Given the description of an element on the screen output the (x, y) to click on. 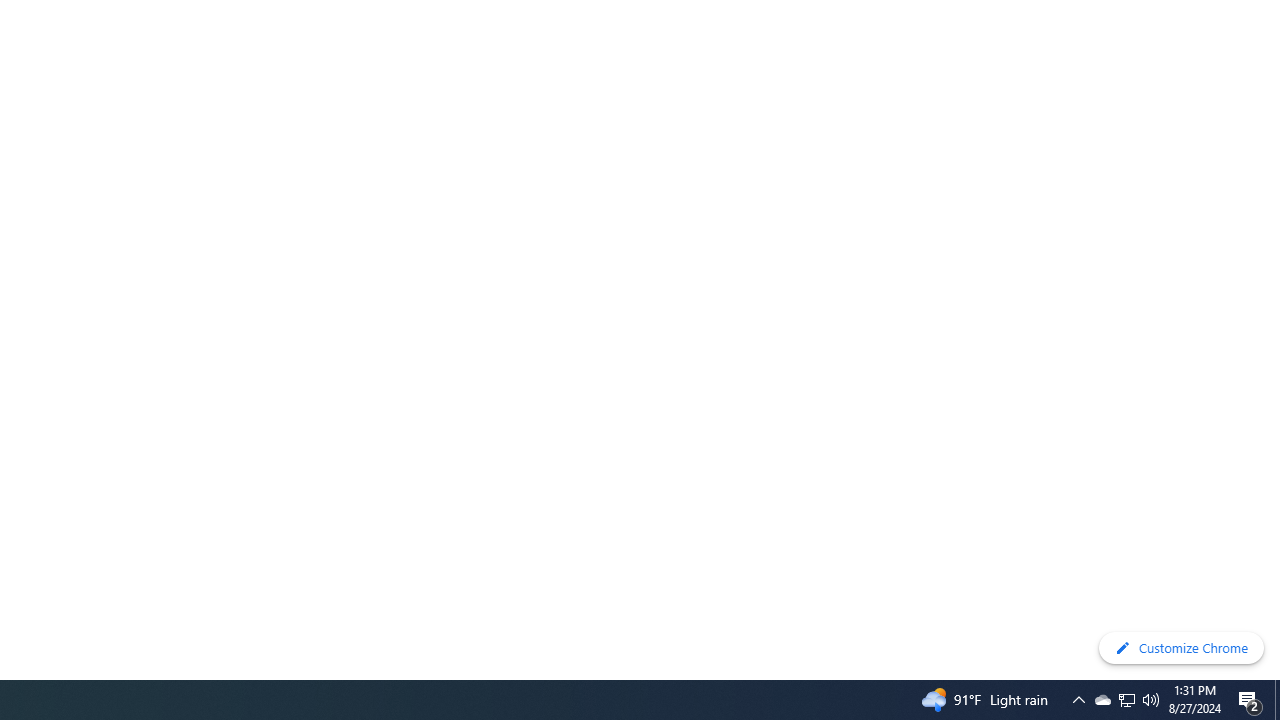
Customize Chrome (1181, 647)
